Given the description of an element on the screen output the (x, y) to click on. 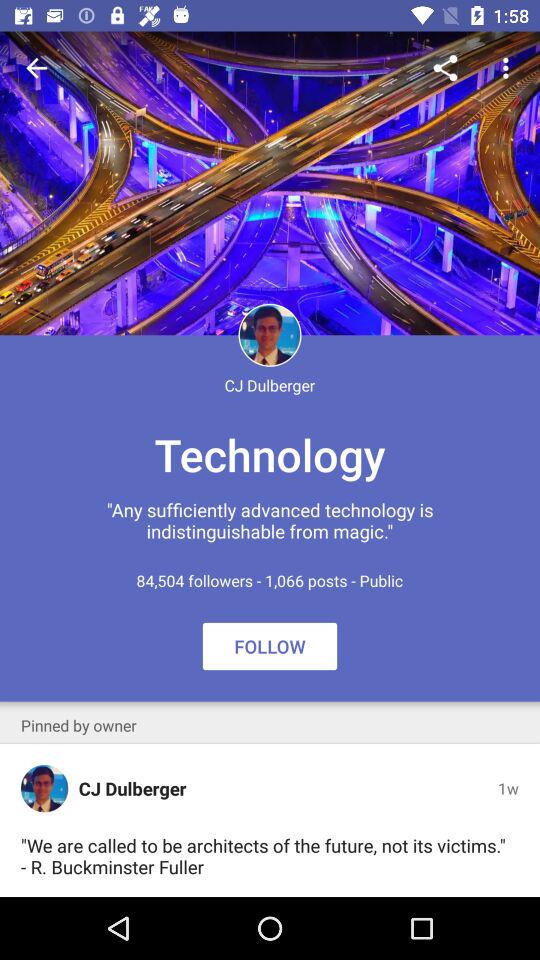
launch icon below the 84 504 followers (78, 725)
